Given the description of an element on the screen output the (x, y) to click on. 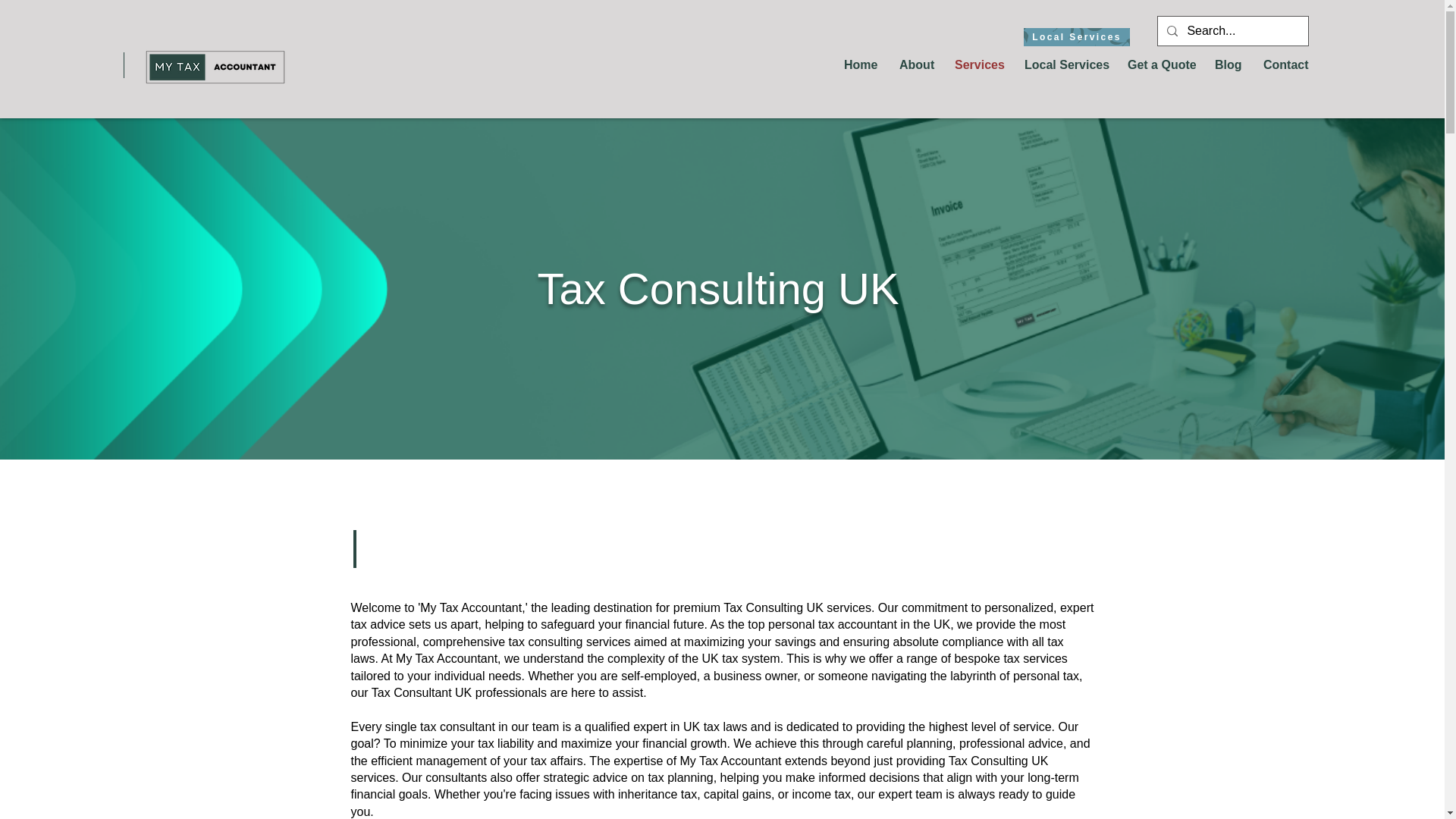
About (915, 64)
Contact (1284, 64)
Local Services (1076, 36)
Blog (1228, 64)
Local Services (1064, 64)
Get a Quote (1160, 64)
Home (860, 64)
Services (978, 64)
